Given the description of an element on the screen output the (x, y) to click on. 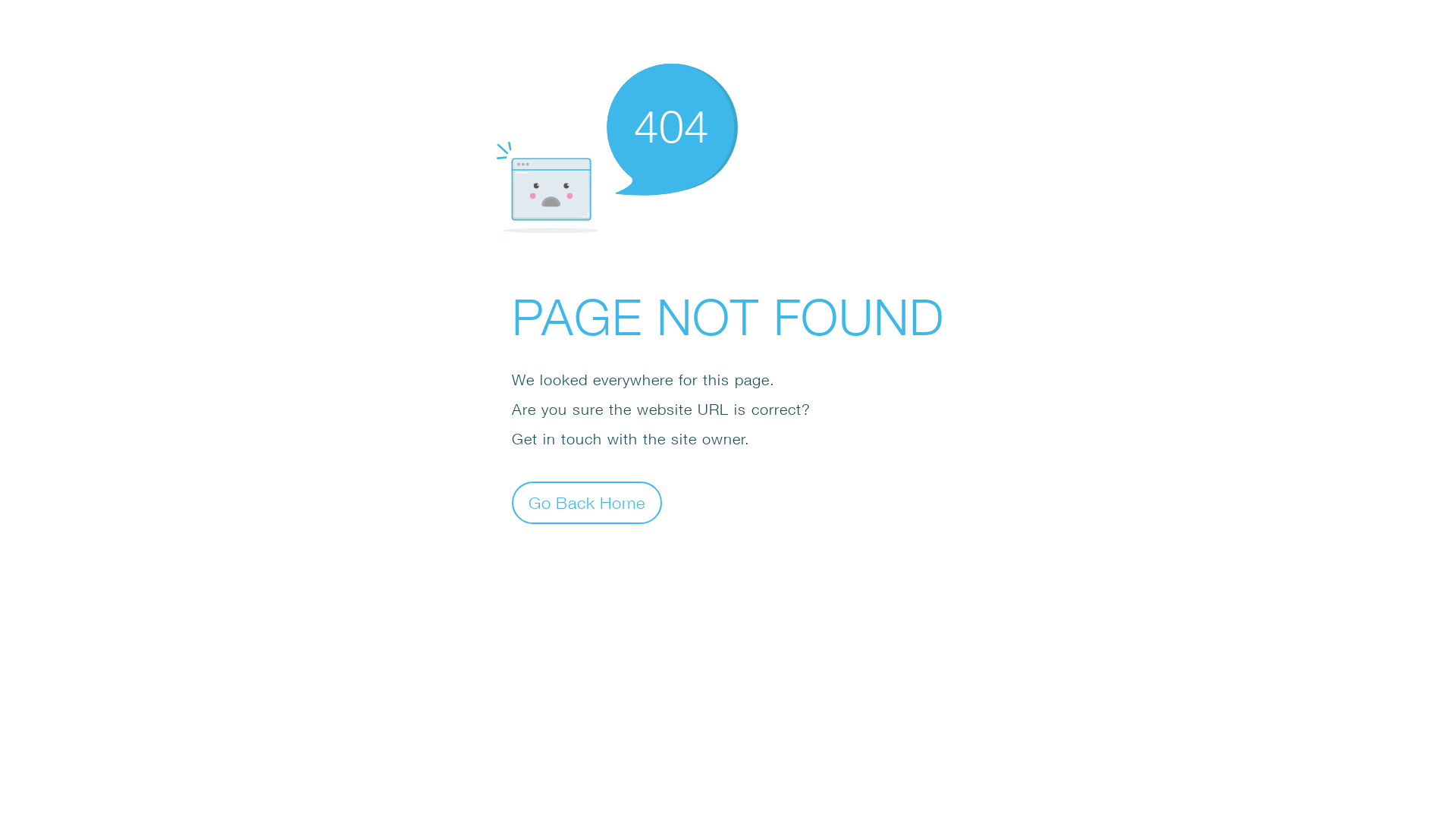
Go Back Home Element type: text (586, 502)
